Given the description of an element on the screen output the (x, y) to click on. 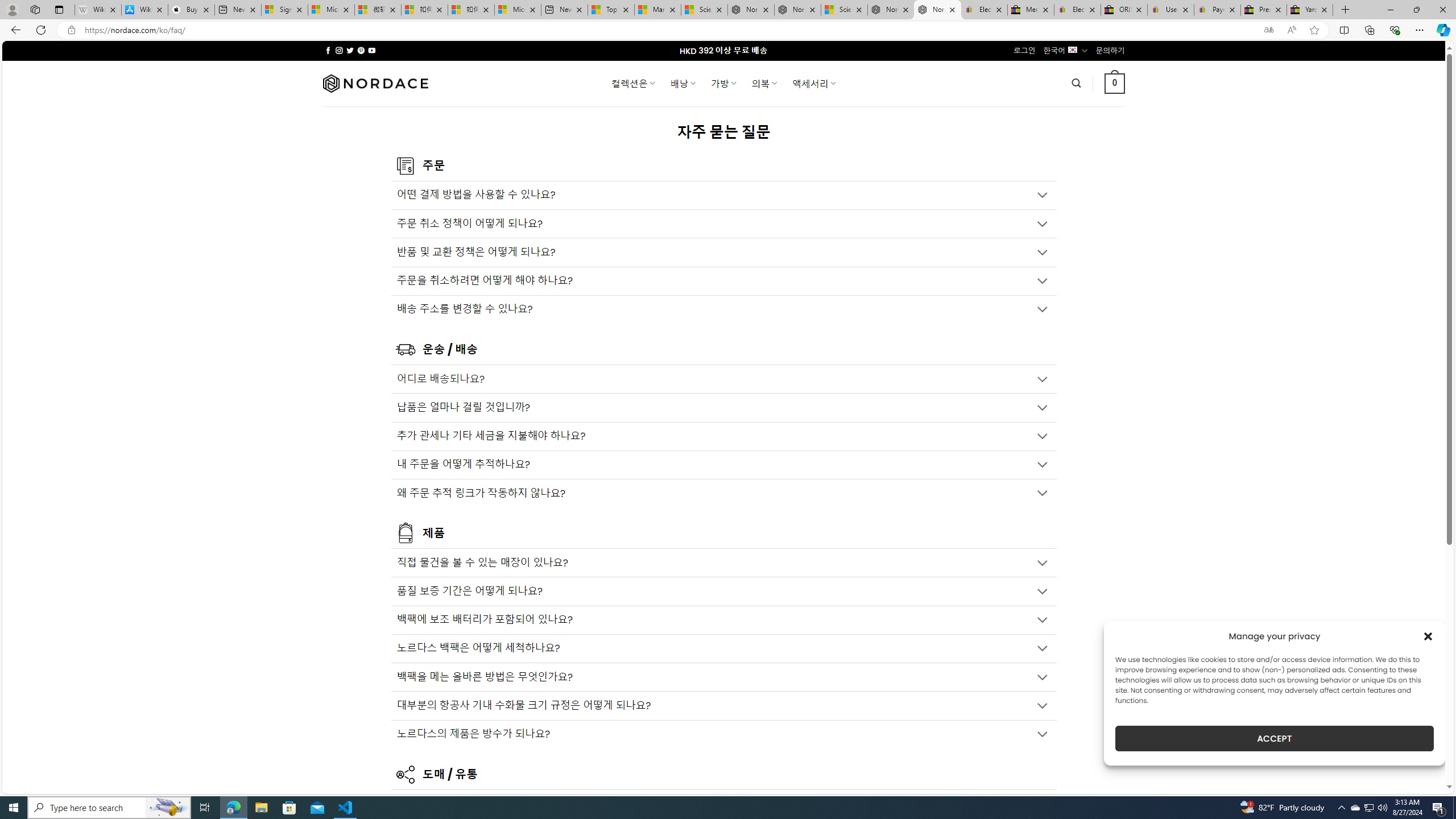
Follow on YouTube (371, 50)
